Given the description of an element on the screen output the (x, y) to click on. 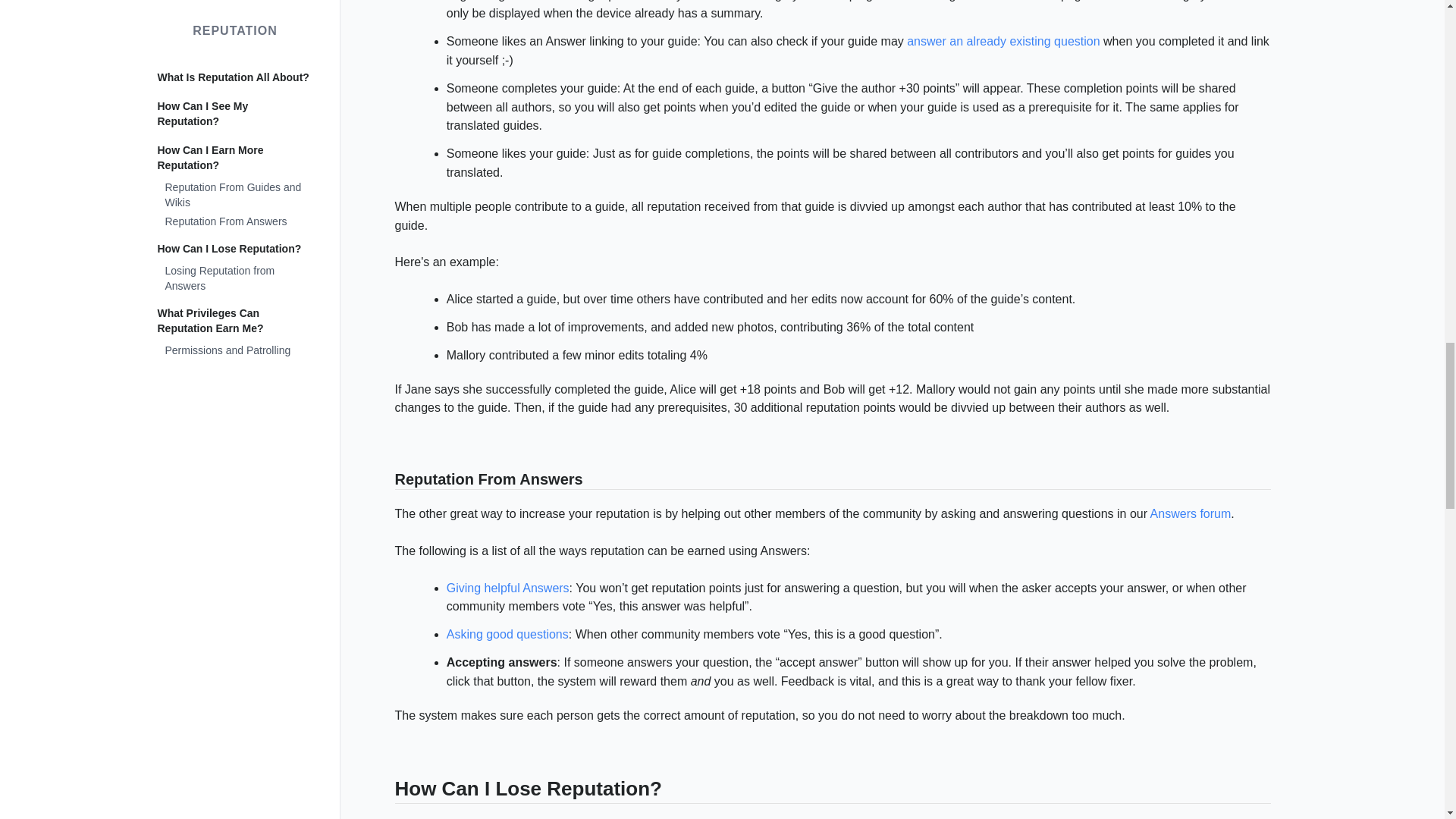
Link to this section (386, 480)
Giving helpful Answers (507, 587)
Asking good questions (507, 634)
Link to this section (386, 791)
answer an already existing question (1003, 41)
Answers forum (1190, 513)
